Given the description of an element on the screen output the (x, y) to click on. 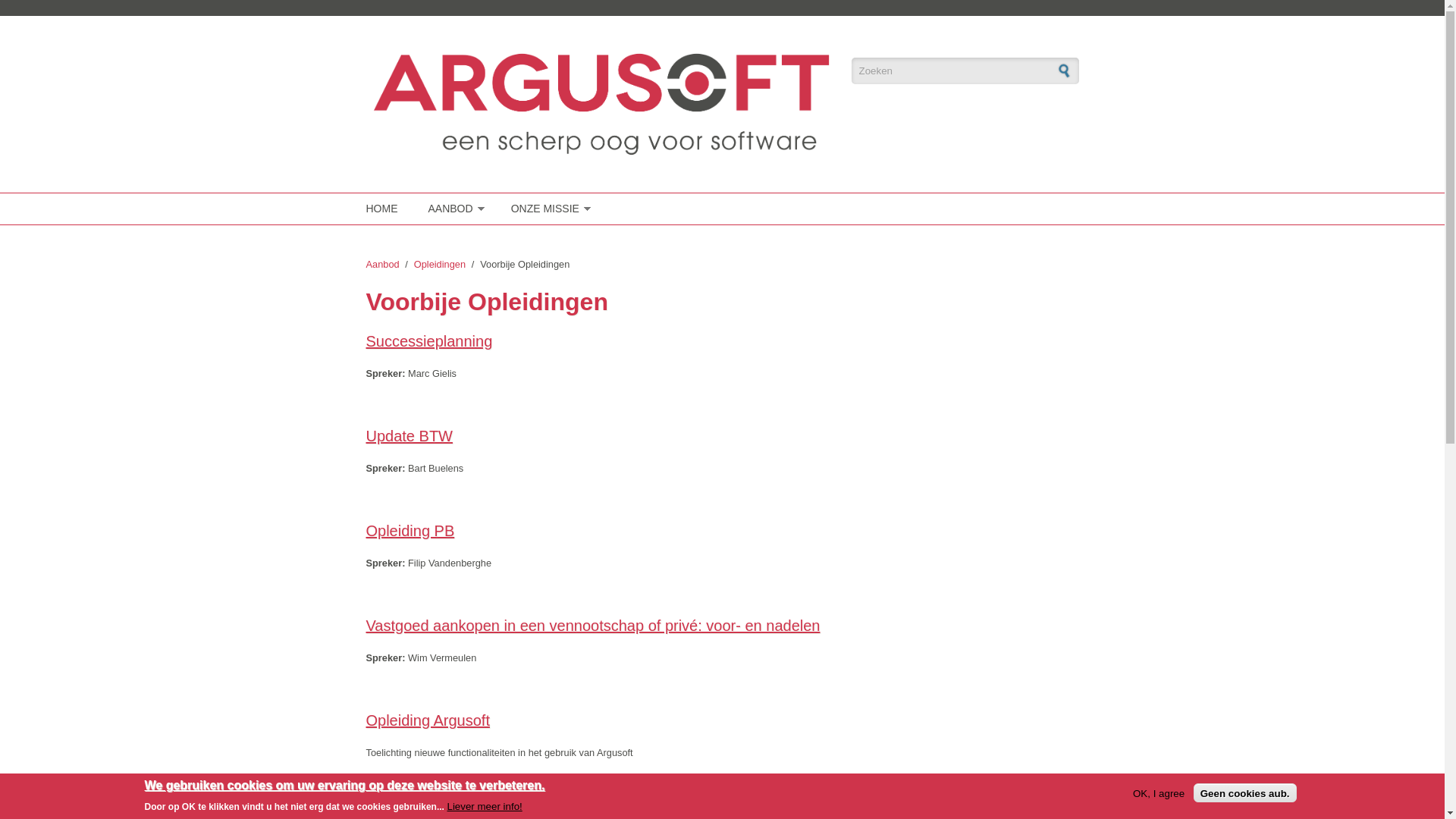
AANBOD Element type: text (451, 208)
Geen cookies aub. Element type: text (1244, 792)
Opleidingen Element type: text (439, 263)
OK, I agree Element type: text (1158, 792)
Aanbod Element type: text (381, 263)
Opleiding PB Element type: text (409, 530)
Update BTW Element type: text (408, 435)
Liever meer info! Element type: text (483, 805)
Opleiding Argusoft Element type: text (427, 720)
ONZE MISSIE Element type: text (546, 208)
Home Element type: hover (600, 104)
HOME Element type: text (383, 208)
Overslaan en naar de inhoud gaan Element type: text (74, 0)
Successieplanning Element type: text (428, 340)
